Given the description of an element on the screen output the (x, y) to click on. 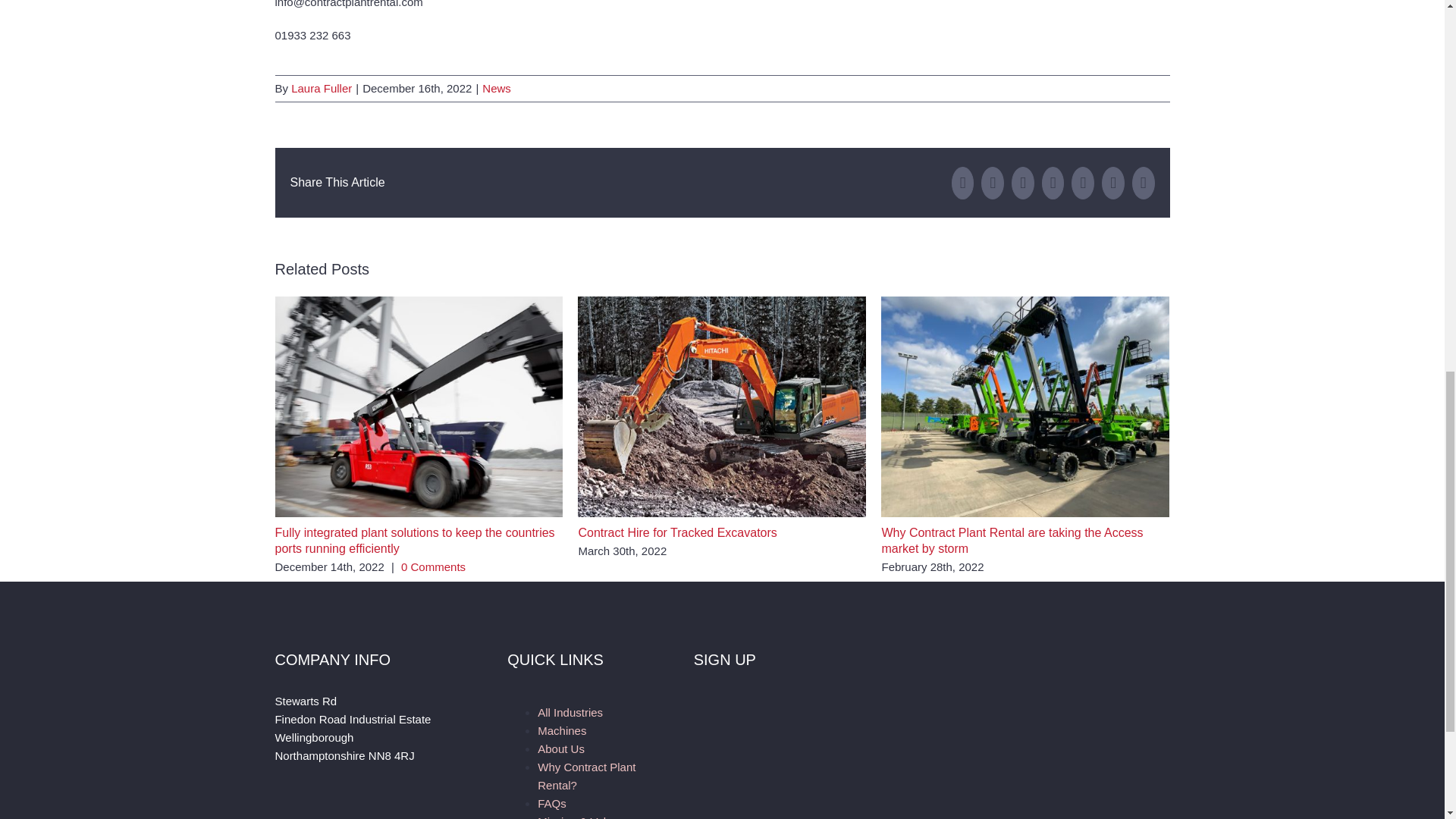
Posts by Laura Fuller (321, 88)
Laura Fuller (321, 88)
Contract Hire for Tracked Excavators (677, 532)
